Given the description of an element on the screen output the (x, y) to click on. 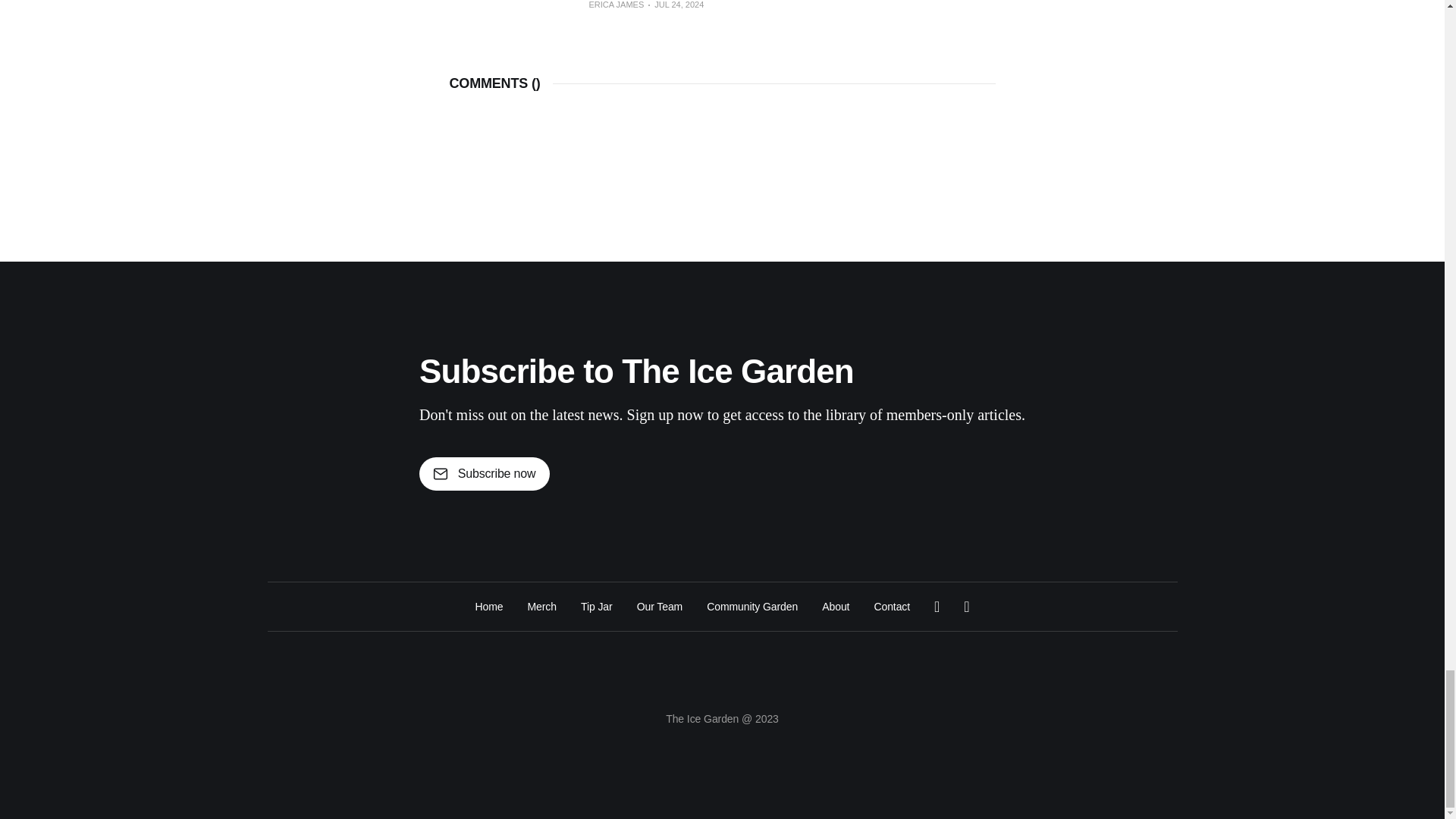
Subscribe now (484, 473)
Merch (541, 606)
Community Garden (751, 606)
About (835, 606)
Home (488, 606)
Our Team (659, 606)
Contact (891, 606)
Tip Jar (596, 606)
